Given the description of an element on the screen output the (x, y) to click on. 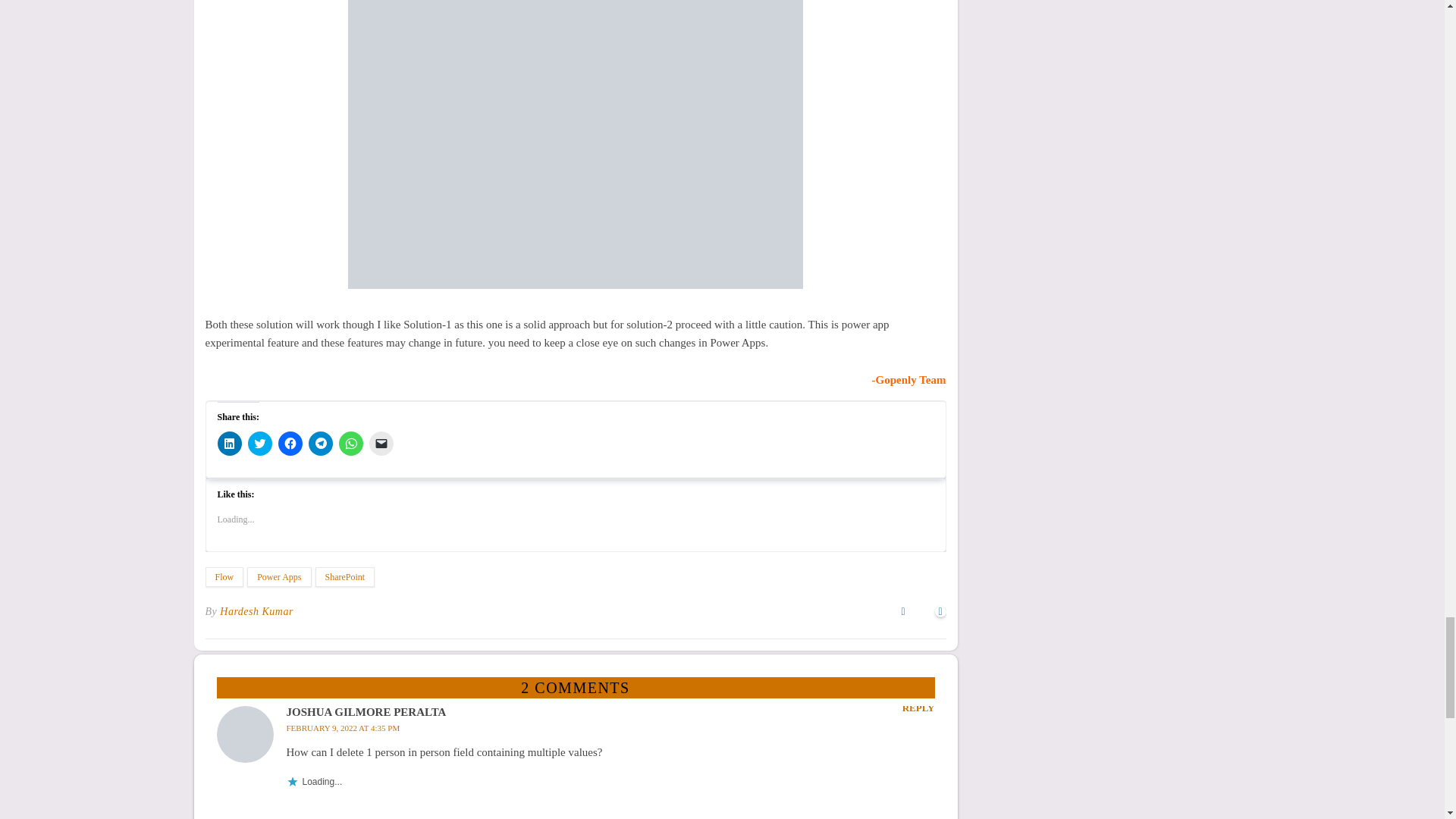
SharePoint (345, 577)
Power Apps (279, 577)
Click to share on Facebook (289, 443)
Click to share on Twitter (258, 443)
Click to email a link to a friend (380, 443)
Click to share on LinkedIn (228, 443)
Click to share on WhatsApp (349, 443)
Flow (224, 577)
Hardesh Kumar (256, 611)
Click to share on Telegram (319, 443)
Posts by Hardesh Kumar (256, 611)
